Given the description of an element on the screen output the (x, y) to click on. 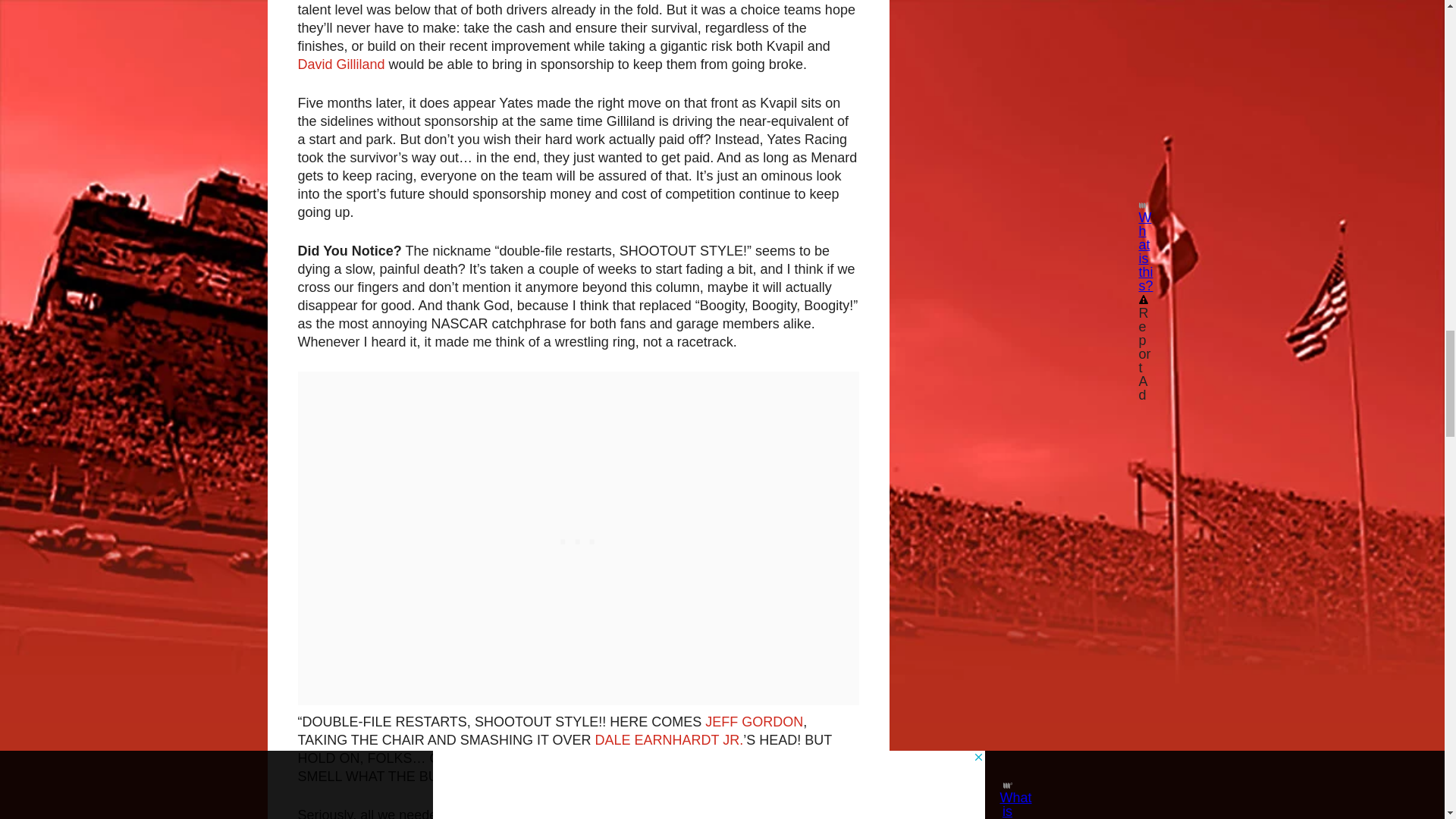
DALE EARNHARDT JR. (669, 739)
JEFF GORDON (753, 721)
BRIAN VICKERS (560, 758)
David Gilliland (340, 64)
